Given the description of an element on the screen output the (x, y) to click on. 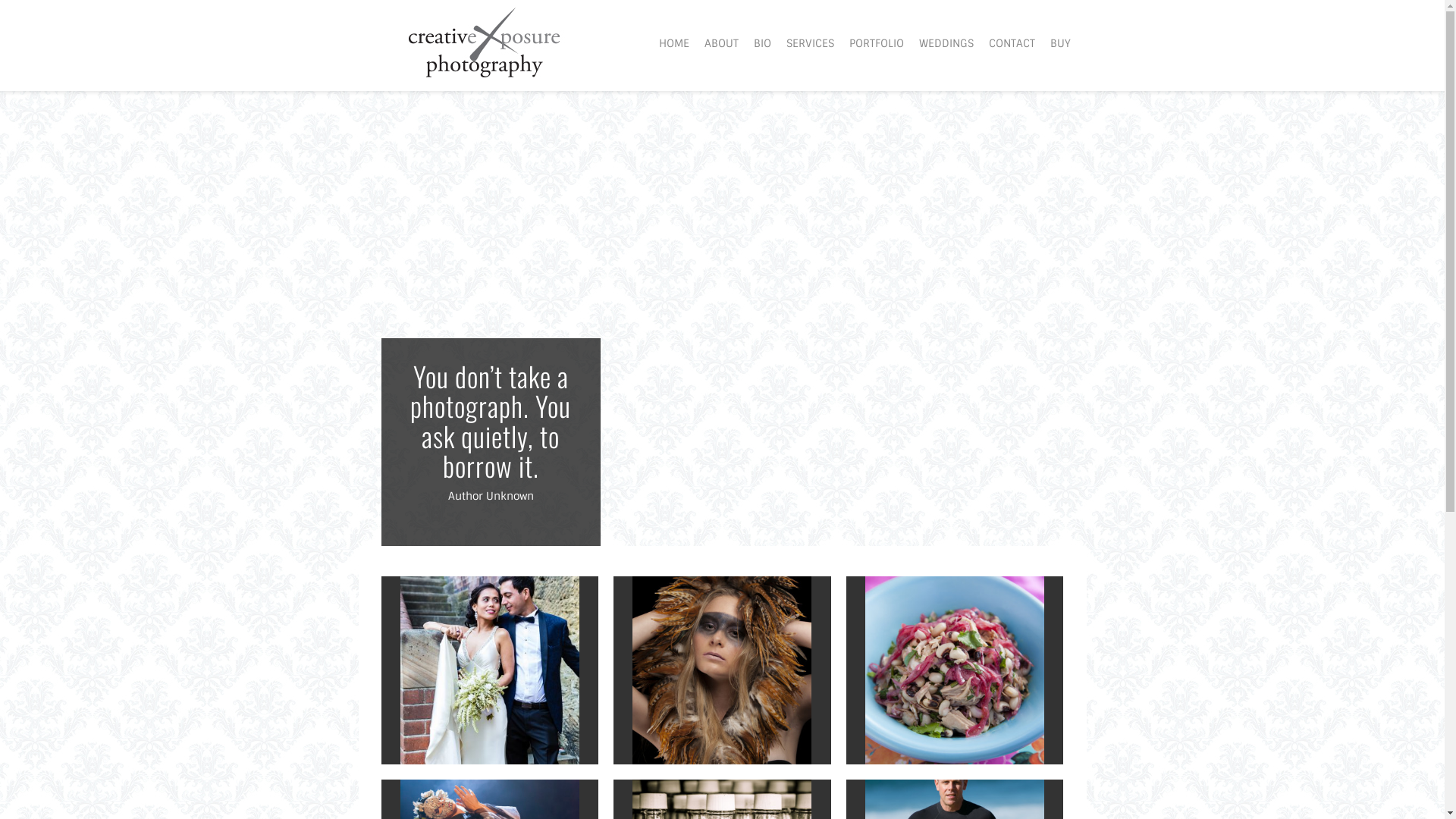
CONTACT Element type: text (1011, 42)
PORTFOLIO Element type: text (876, 42)
WEDDINGS Element type: text (946, 42)
SERVICES Element type: text (810, 42)
HOME Element type: text (673, 42)
BUY Element type: text (1060, 42)
BIO Element type: text (762, 42)
ABOUT Element type: text (721, 42)
